Given the description of an element on the screen output the (x, y) to click on. 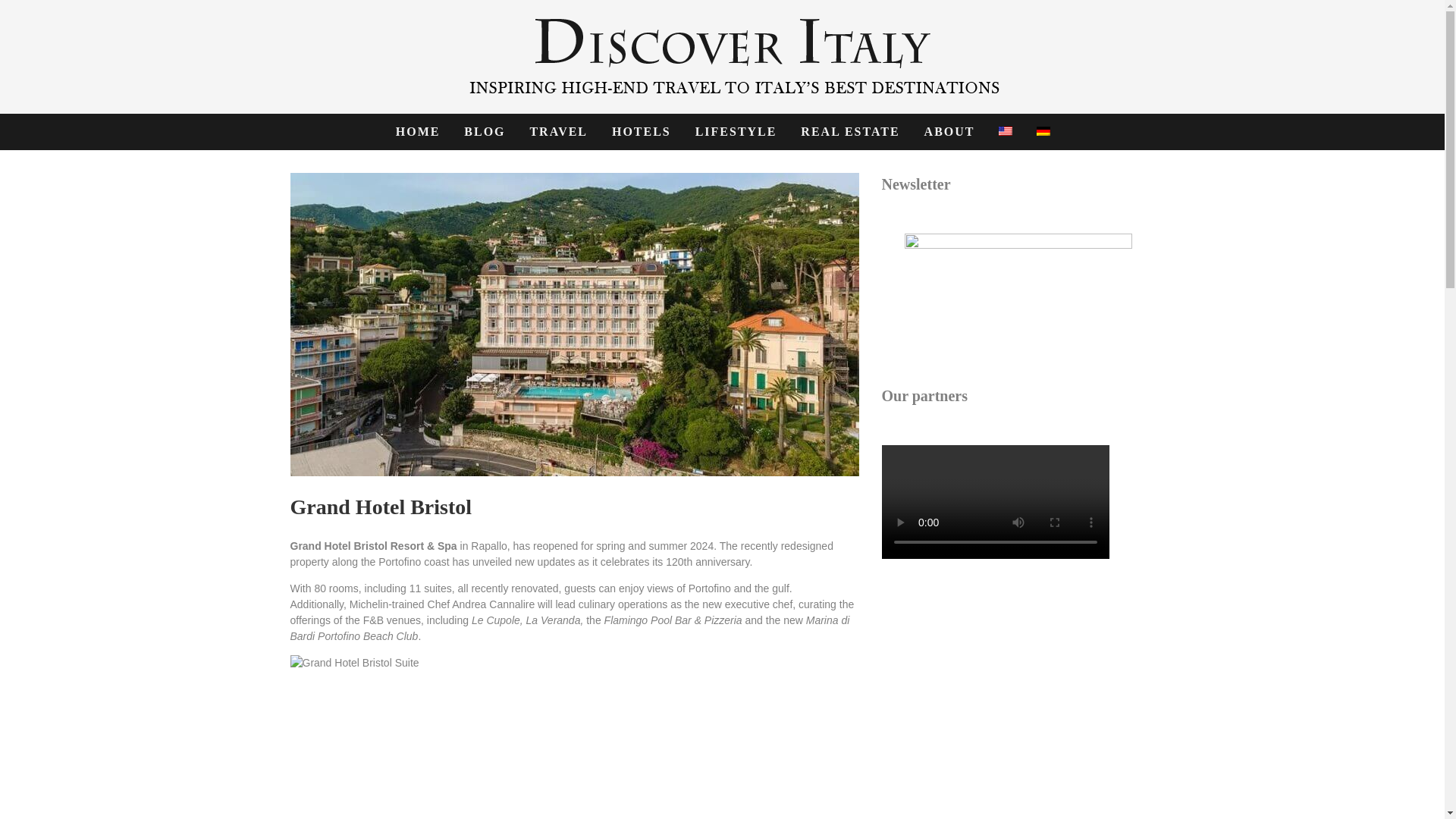
BLOG (484, 131)
REAL ESTATE (850, 131)
HOME (417, 131)
ABOUT (949, 131)
LIFESTYLE (736, 131)
HOTELS (640, 131)
TRAVEL (558, 131)
